Given the description of an element on the screen output the (x, y) to click on. 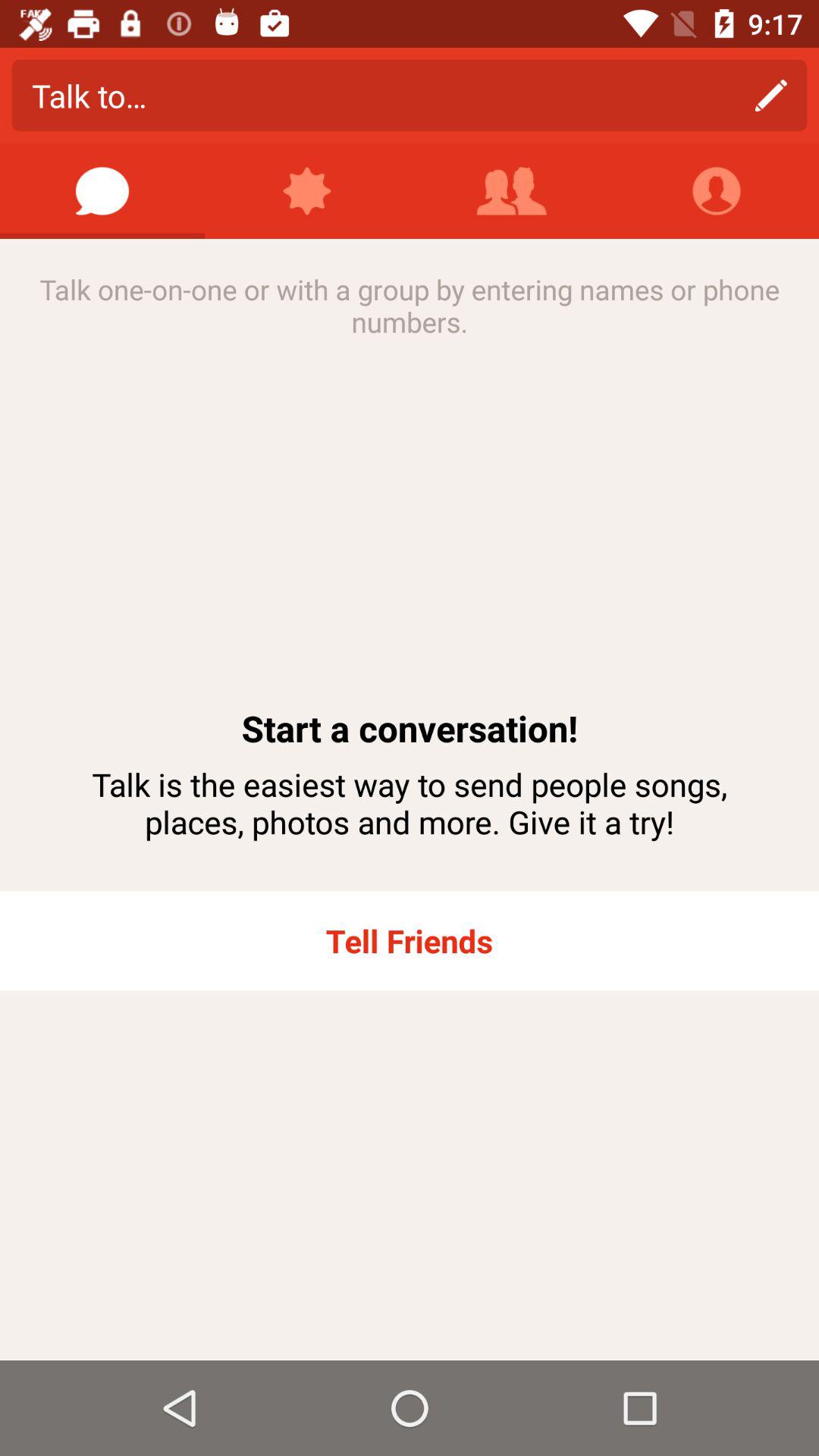
open app above the talk one on icon (102, 190)
